Given the description of an element on the screen output the (x, y) to click on. 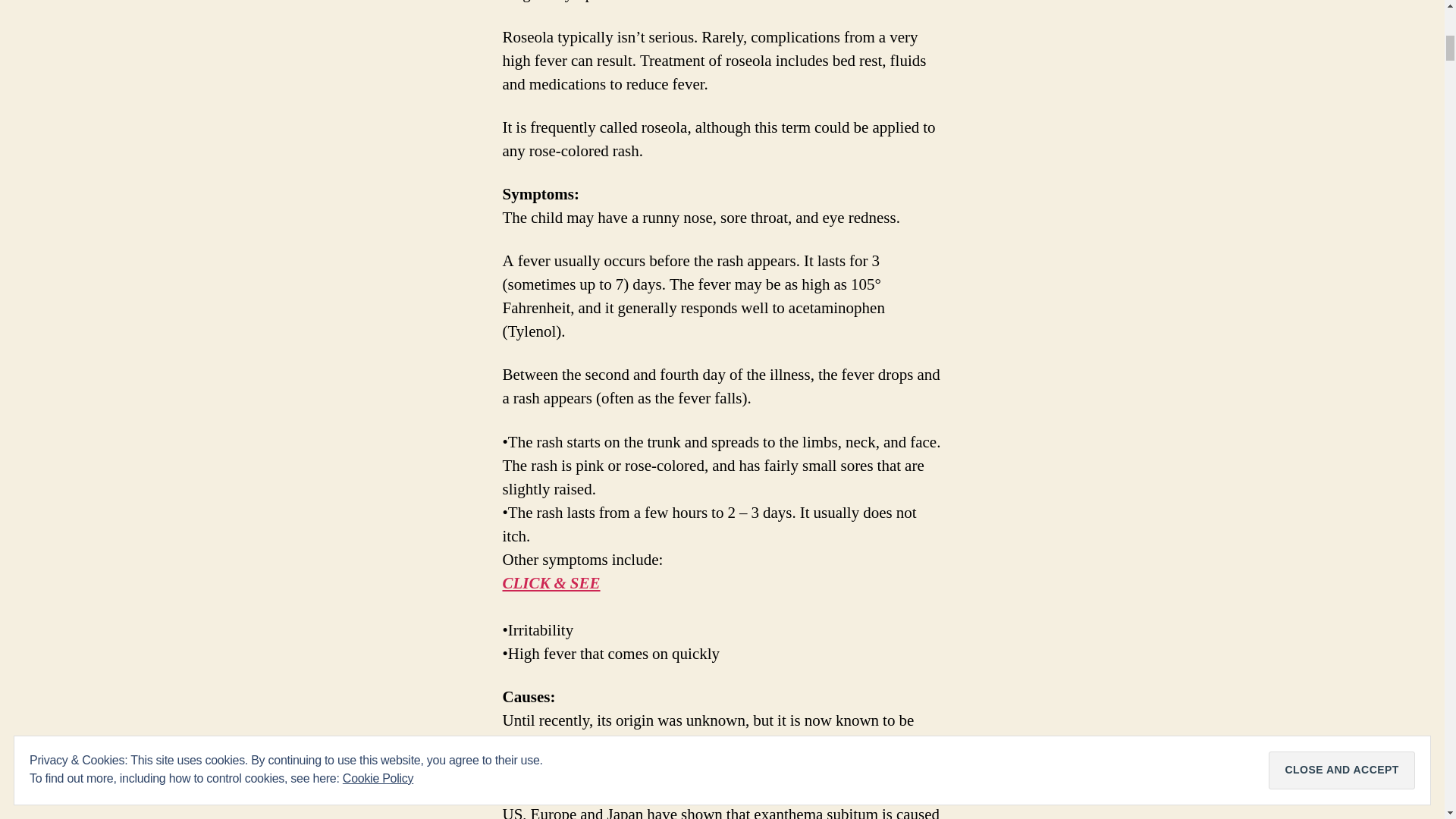
Human herpesvirus 7 (552, 767)
Roseolovirus (544, 791)
HHV-7 (552, 767)
Roseolovirus (544, 791)
Human herpesvirus 6 (761, 743)
HHV-6 (761, 743)
